Given the description of an element on the screen output the (x, y) to click on. 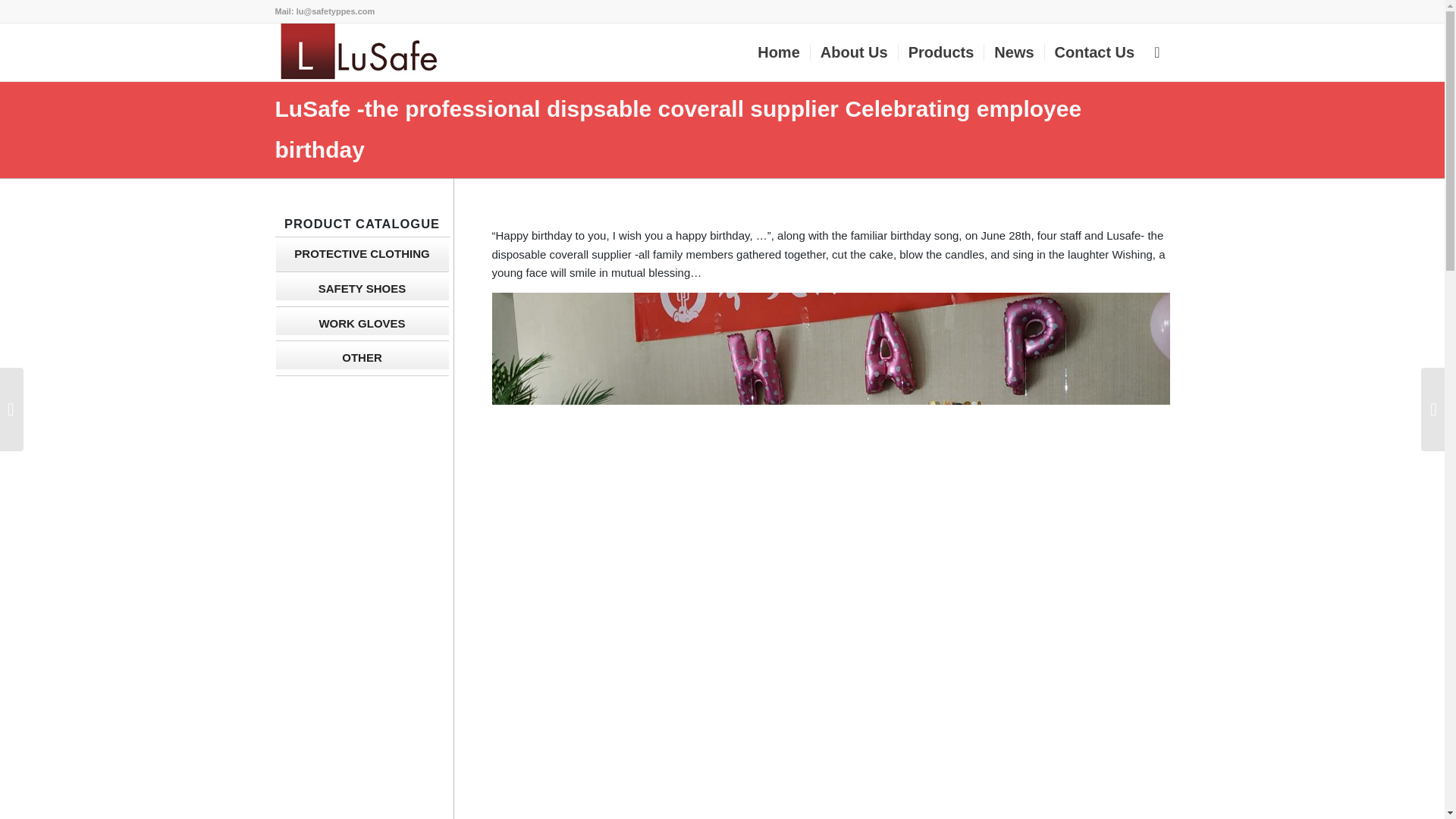
Contact Us (1093, 52)
Products (941, 52)
Home (778, 52)
SAFETY SHOES (362, 289)
News (1013, 52)
About Us (853, 52)
LuSafe Logo (357, 52)
PROTECTIVE CLOTHING (362, 254)
WORK GLOVES (362, 324)
OTHER (362, 358)
